Given the description of an element on the screen output the (x, y) to click on. 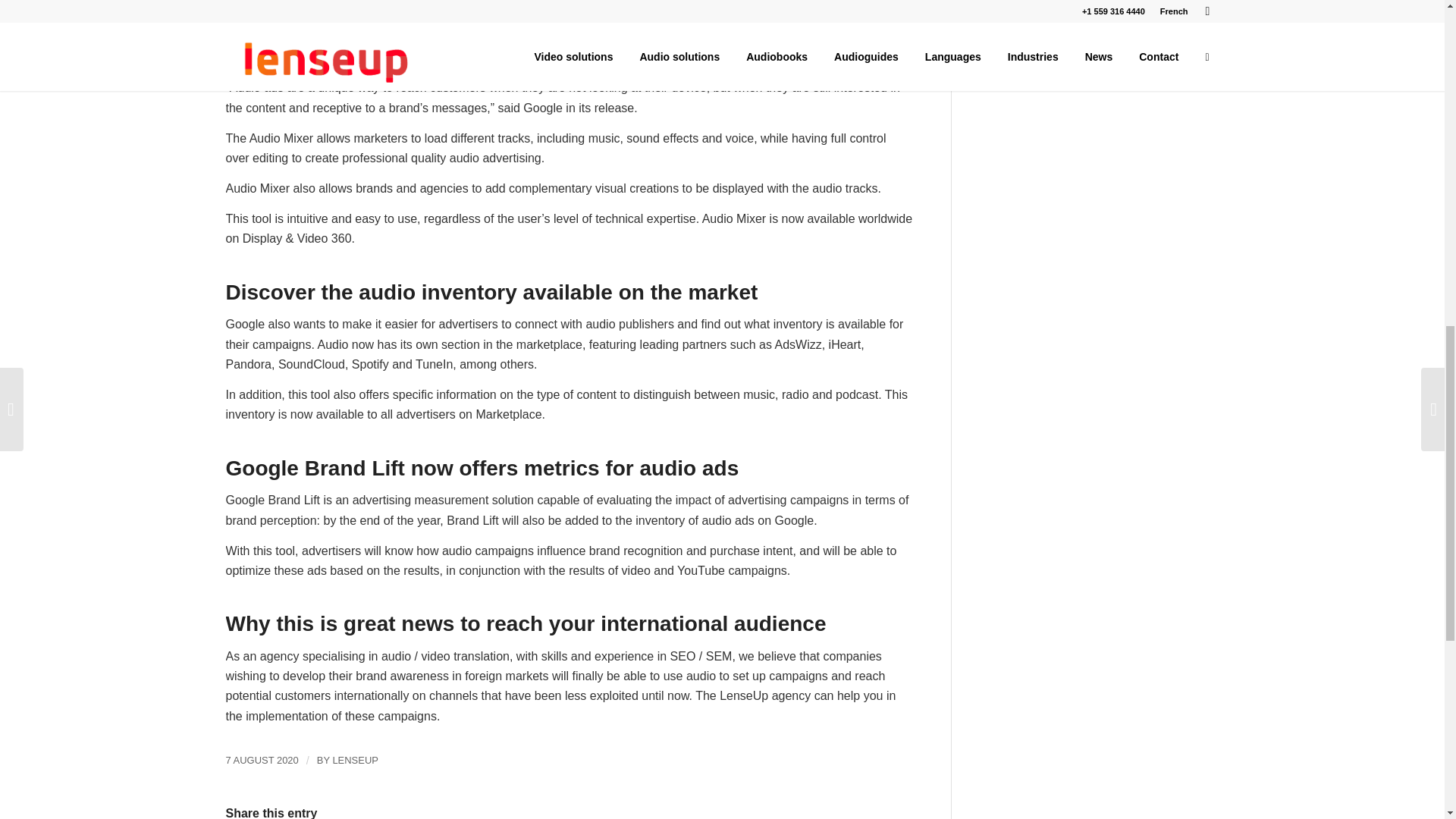
Posts by LenseUp (354, 759)
